Given the description of an element on the screen output the (x, y) to click on. 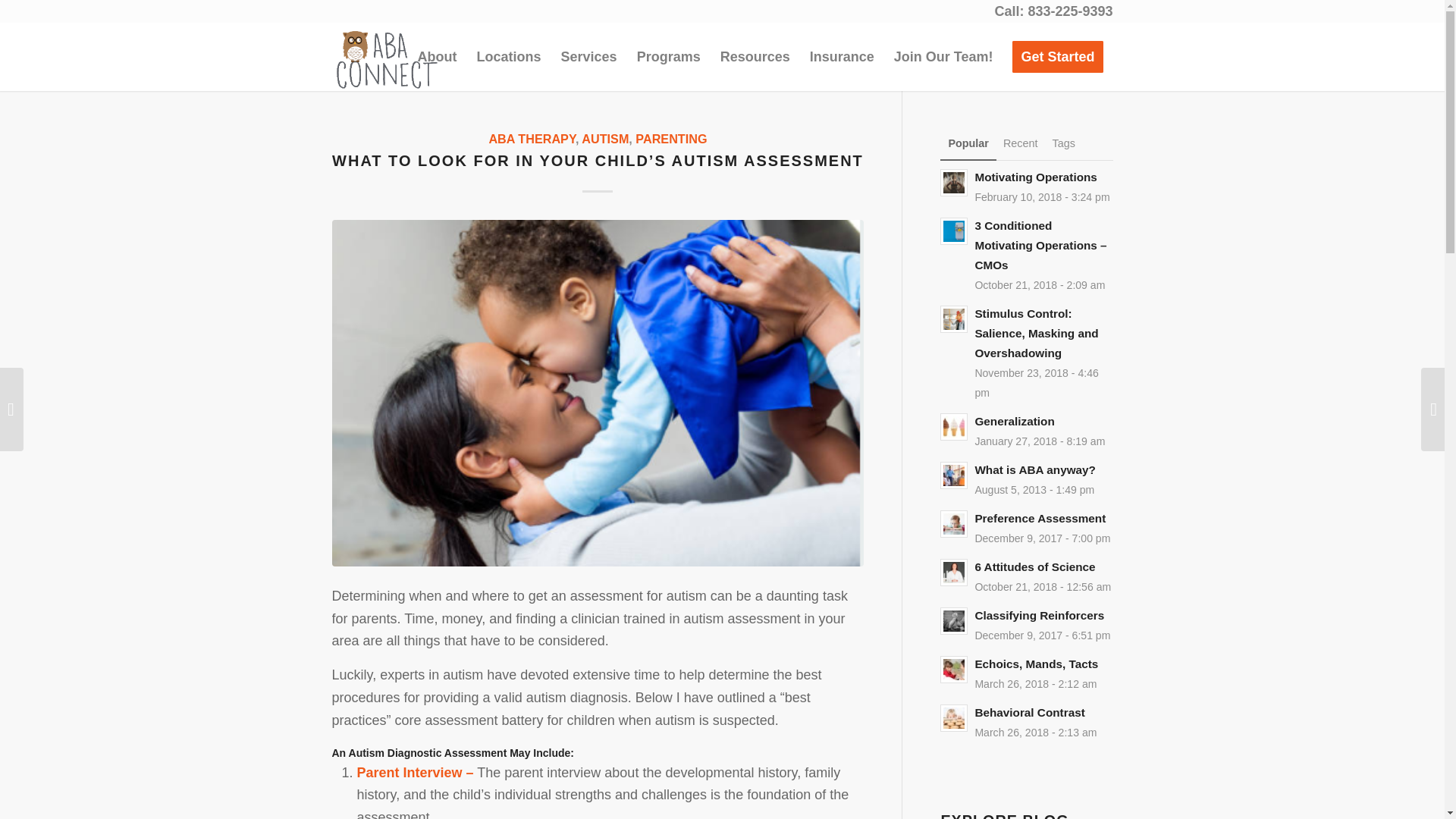
Locations (509, 56)
Insurance (841, 56)
Get Started (1057, 56)
Join Our Team! (943, 56)
Programs (668, 56)
Services (589, 56)
ABA THERAPY (531, 138)
Resources (754, 56)
PARENTING (670, 138)
AUTISM (604, 138)
Call: 833-225-9393 (1053, 11)
